Given the description of an element on the screen output the (x, y) to click on. 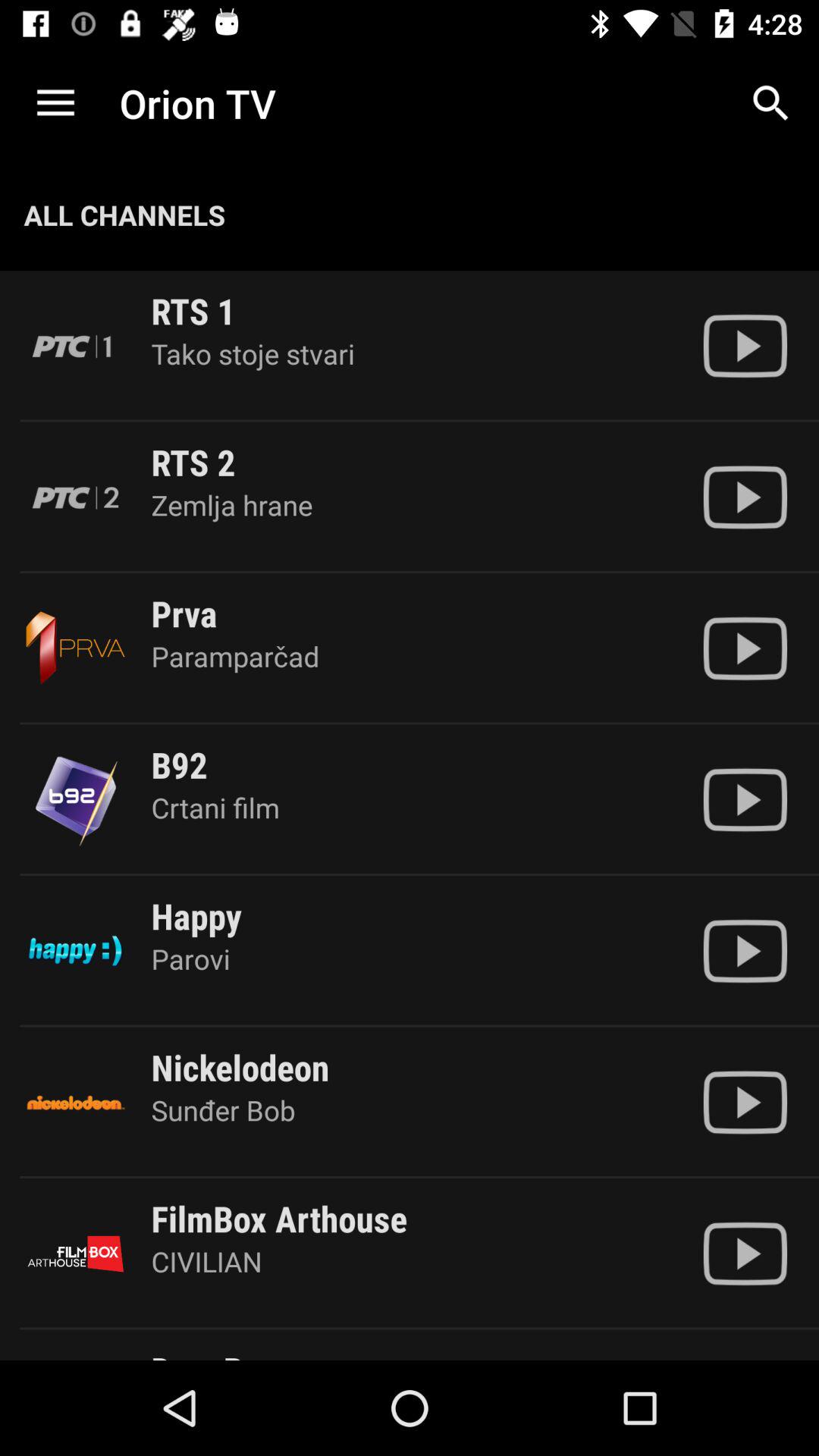
play the option (745, 1102)
